Given the description of an element on the screen output the (x, y) to click on. 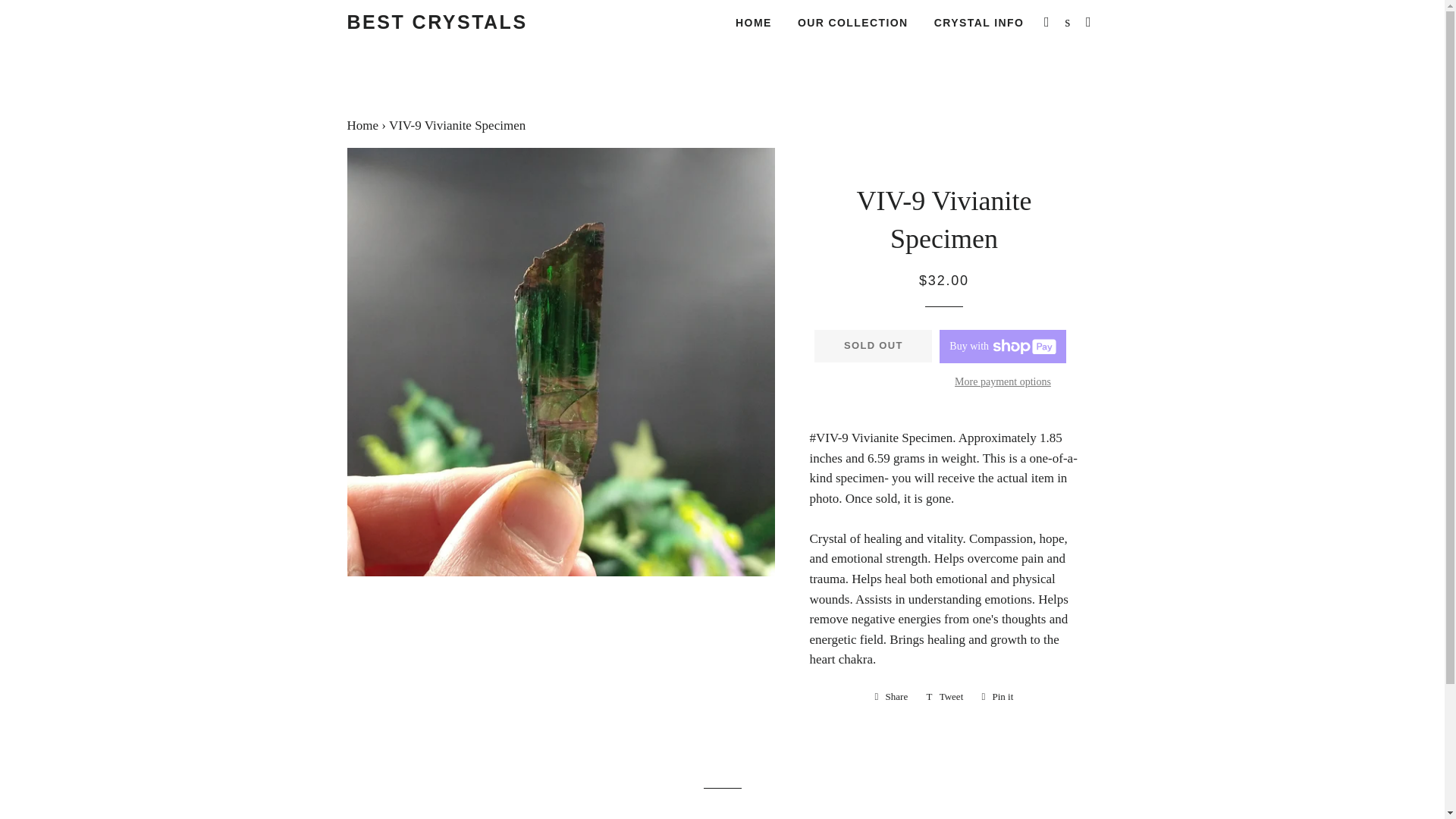
SEARCH (944, 696)
SOLD OUT (1068, 22)
HOME (872, 345)
Home (753, 23)
OUR COLLECTION (362, 124)
Home (891, 696)
LOG IN (853, 23)
More payment options (362, 124)
BEST CRYSTALS (1046, 22)
CART (1002, 381)
Tweet on Twitter (437, 22)
Pin on Pinterest (1088, 22)
